Given the description of an element on the screen output the (x, y) to click on. 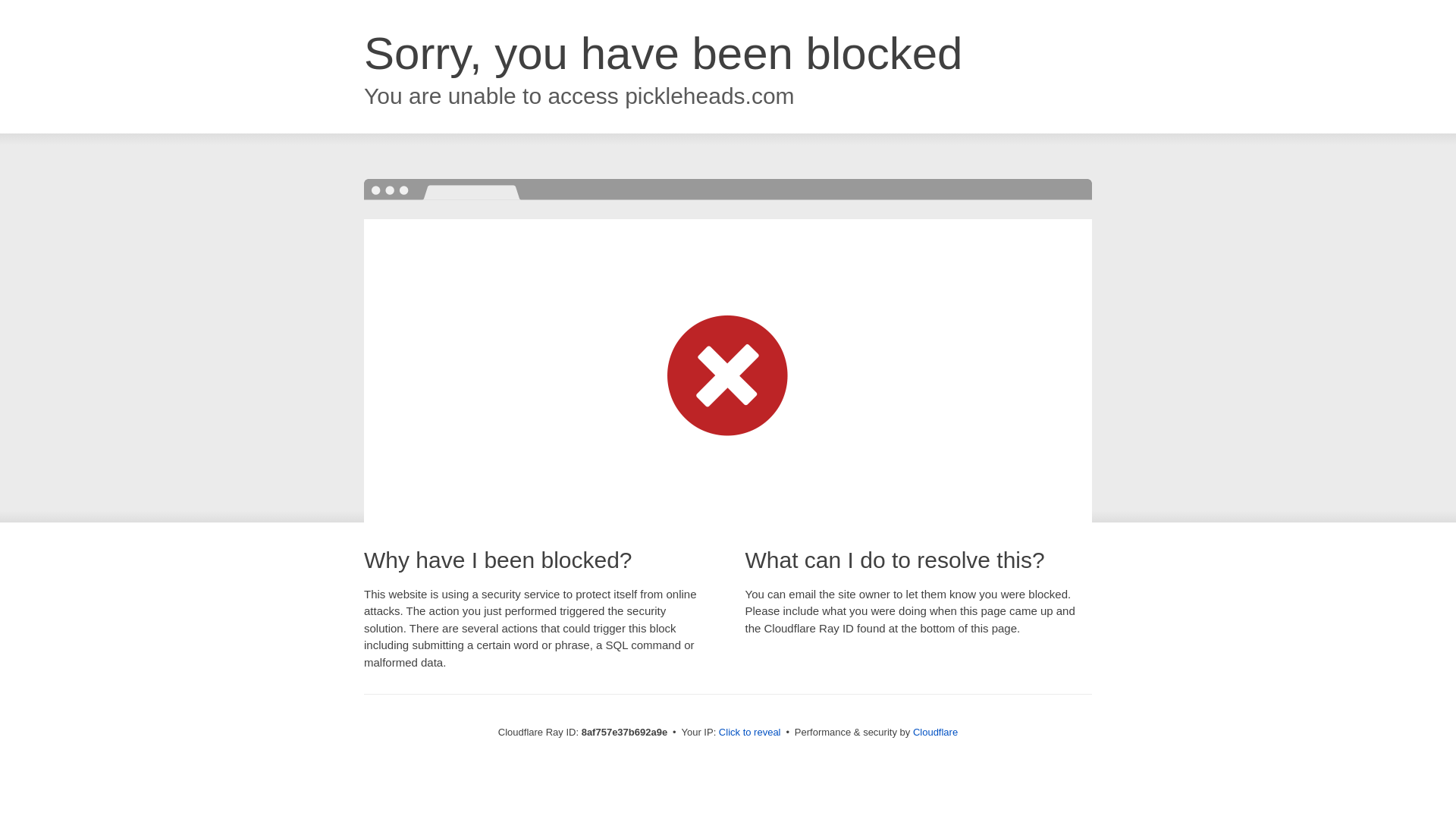
Click to reveal (749, 732)
Cloudflare (935, 731)
